Given the description of an element on the screen output the (x, y) to click on. 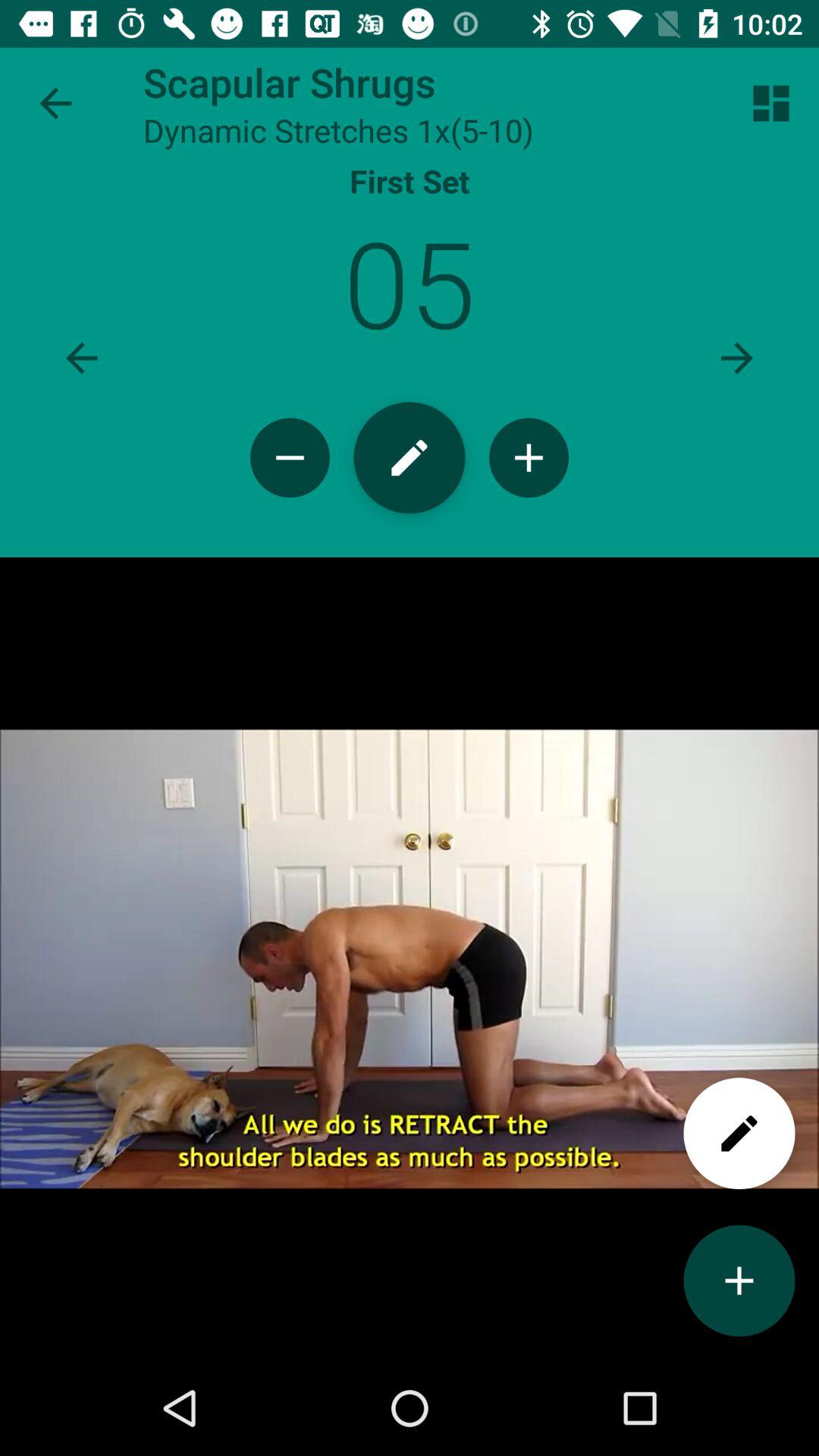
go to next arrow (737, 358)
